Given the description of an element on the screen output the (x, y) to click on. 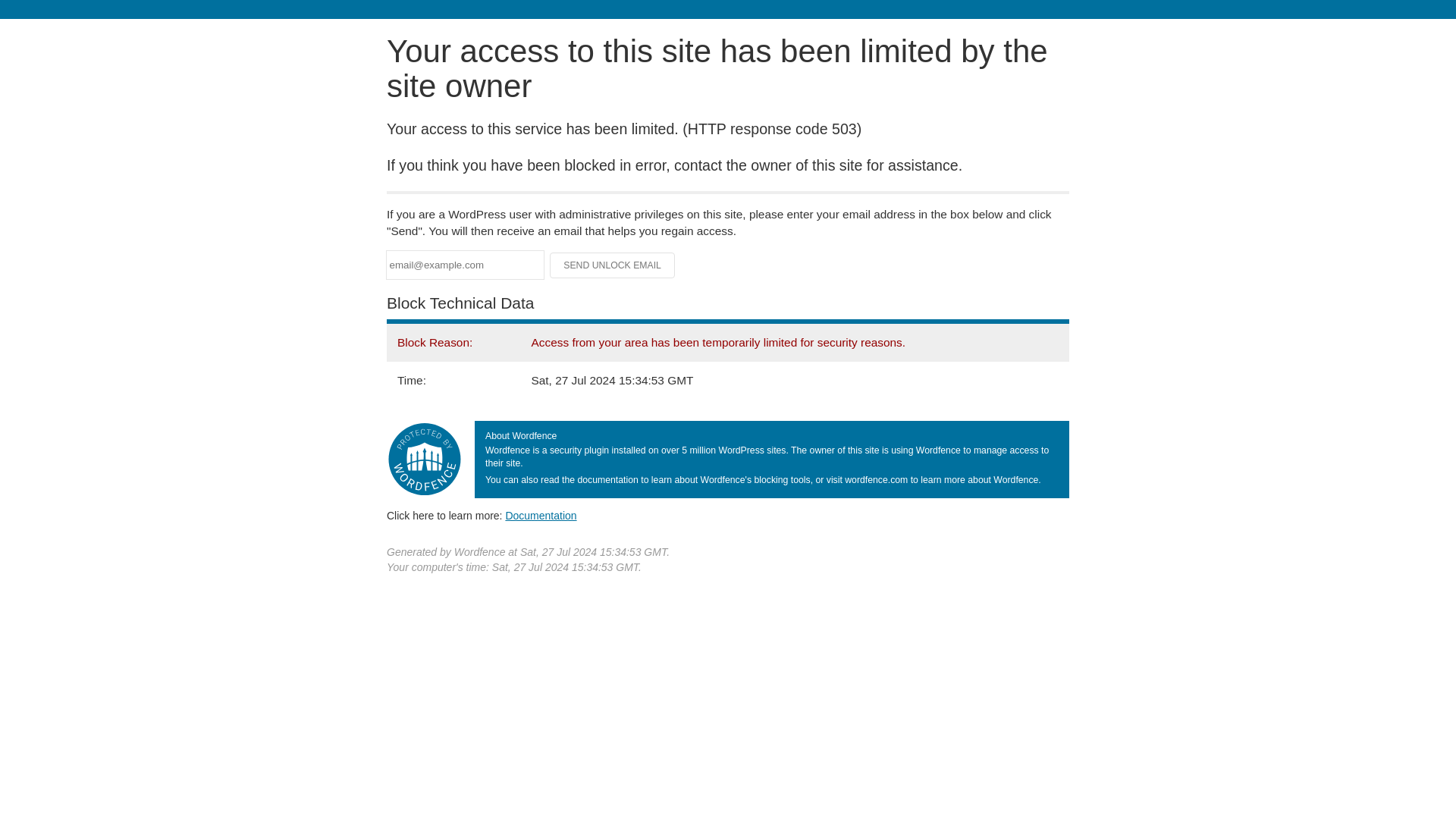
Documentation (540, 515)
Send Unlock Email (612, 265)
Send Unlock Email (612, 265)
